Given the description of an element on the screen output the (x, y) to click on. 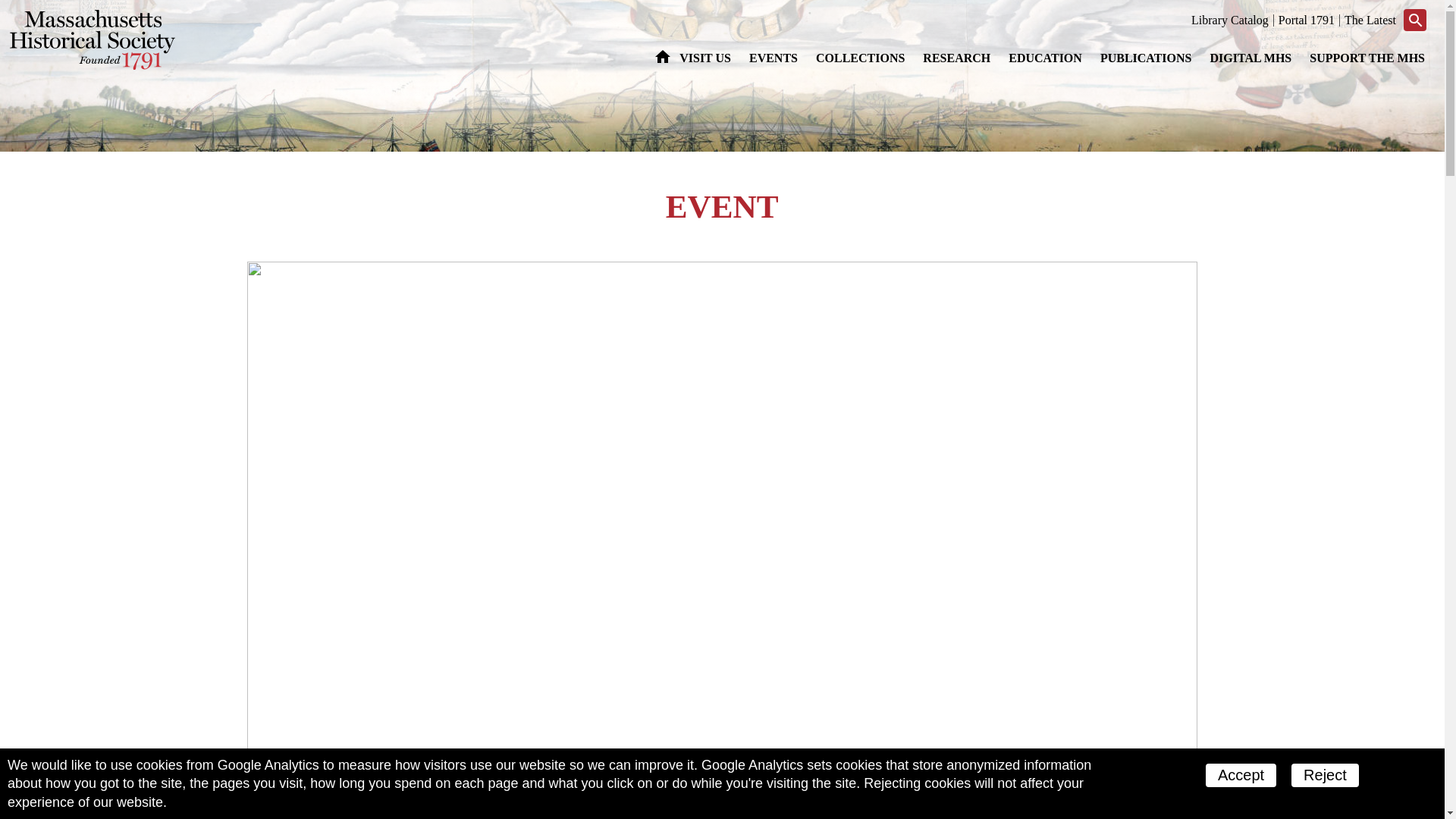
Portal 1791 (1305, 20)
COLLECTIONS (860, 58)
The Latest (1369, 20)
EVENTS (773, 58)
VISIT US (704, 58)
Library Catalog (1229, 20)
